Given the description of an element on the screen output the (x, y) to click on. 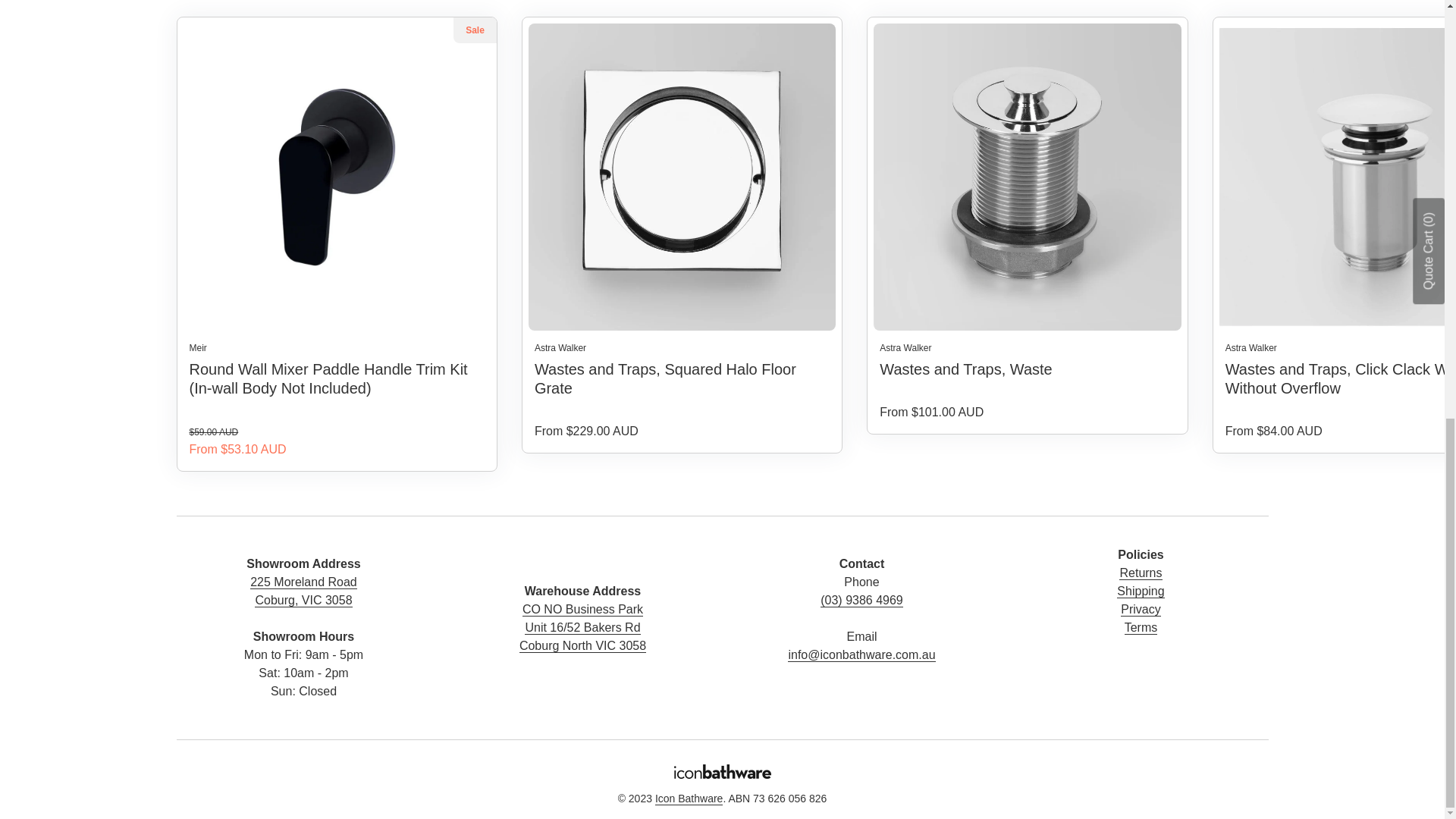
Icon Bathware Warehouse (582, 627)
Refund Policy (1140, 572)
Shipping Policy (1139, 591)
Privacy Policy (1140, 609)
Icon Bathware Showroom (303, 609)
tel:0393864969 (861, 609)
